Given the description of an element on the screen output the (x, y) to click on. 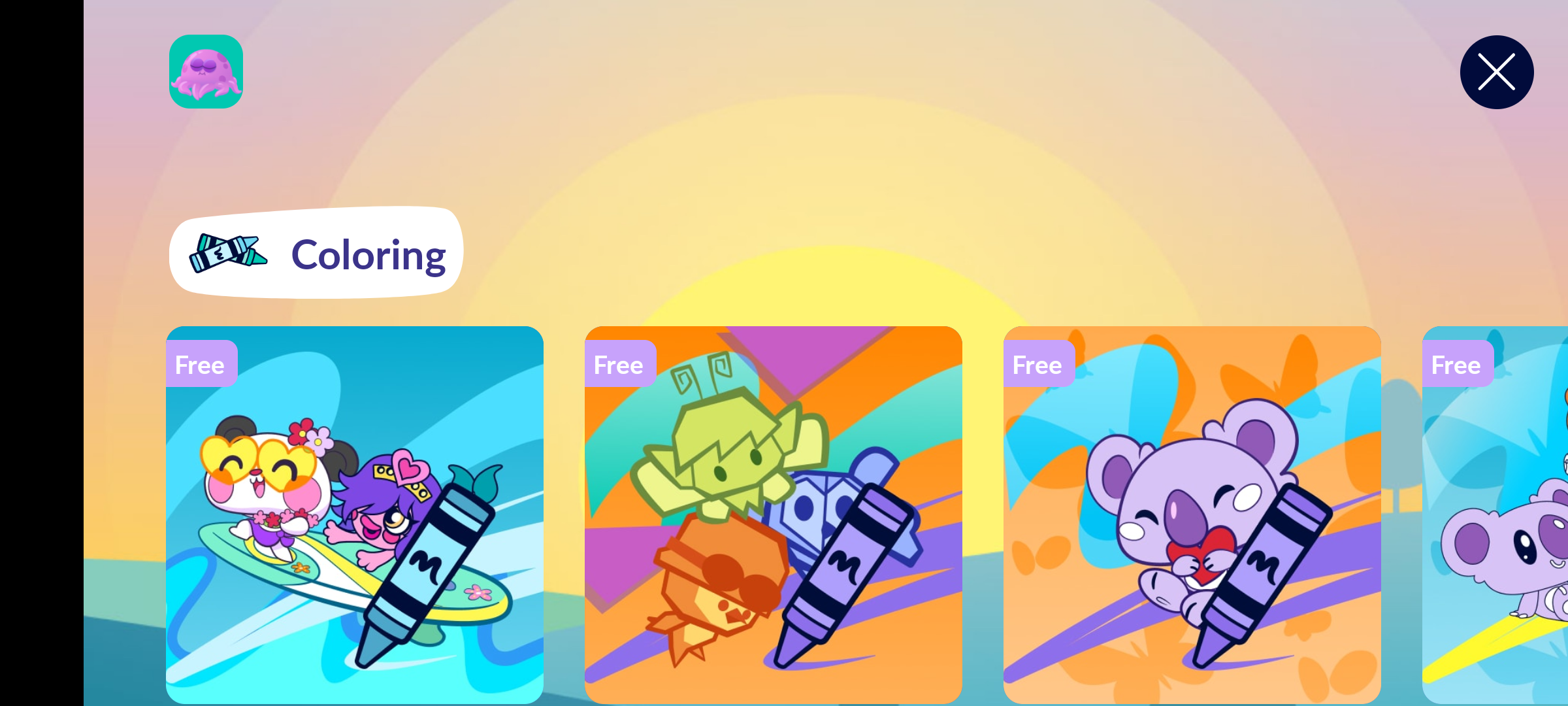
Profile icon (205, 71)
Featured Content Free (355, 514)
Featured Content Free (773, 514)
Featured Content Free (1192, 514)
